Given the description of an element on the screen output the (x, y) to click on. 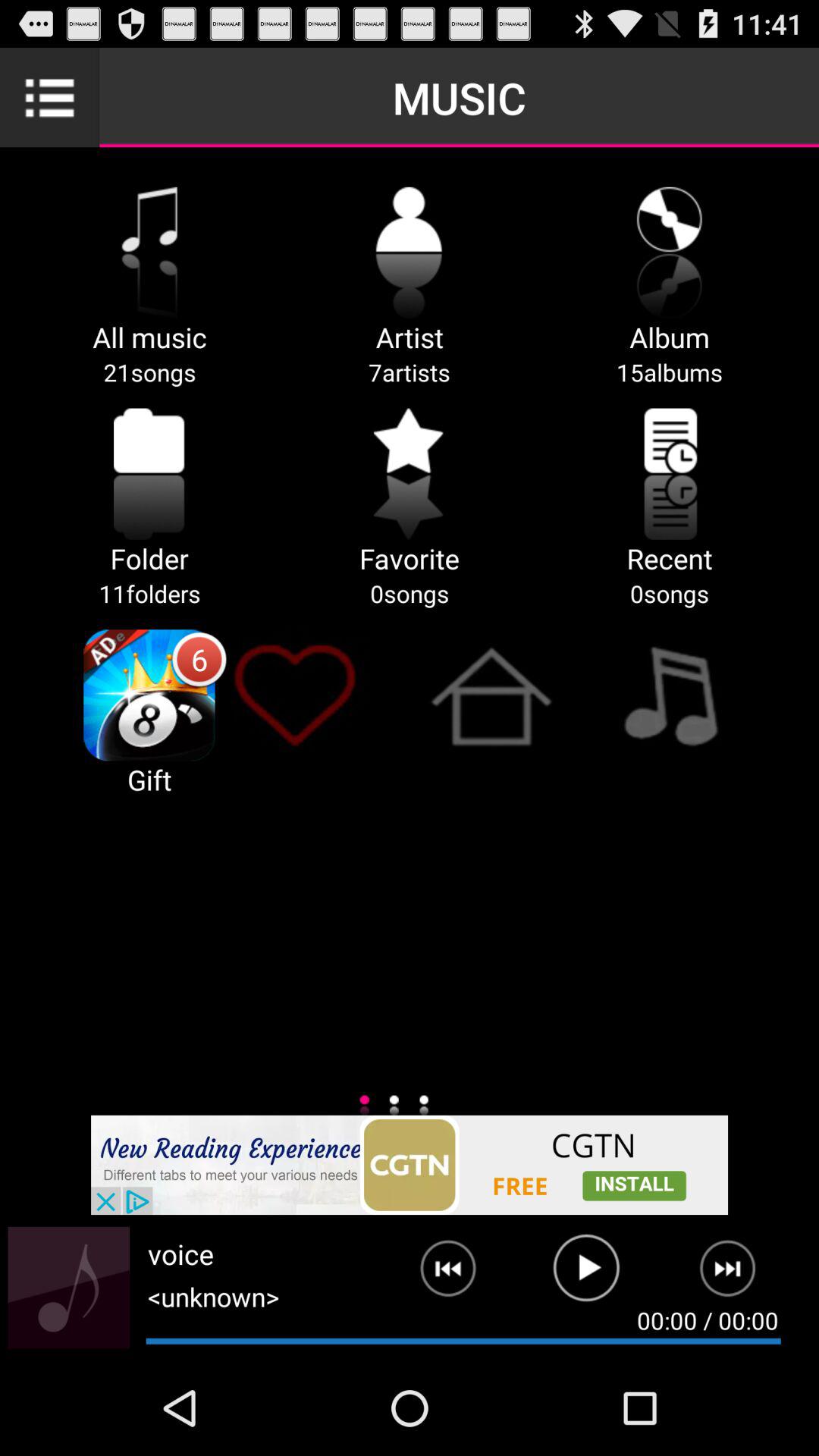
forward button (737, 1274)
